Given the description of an element on the screen output the (x, y) to click on. 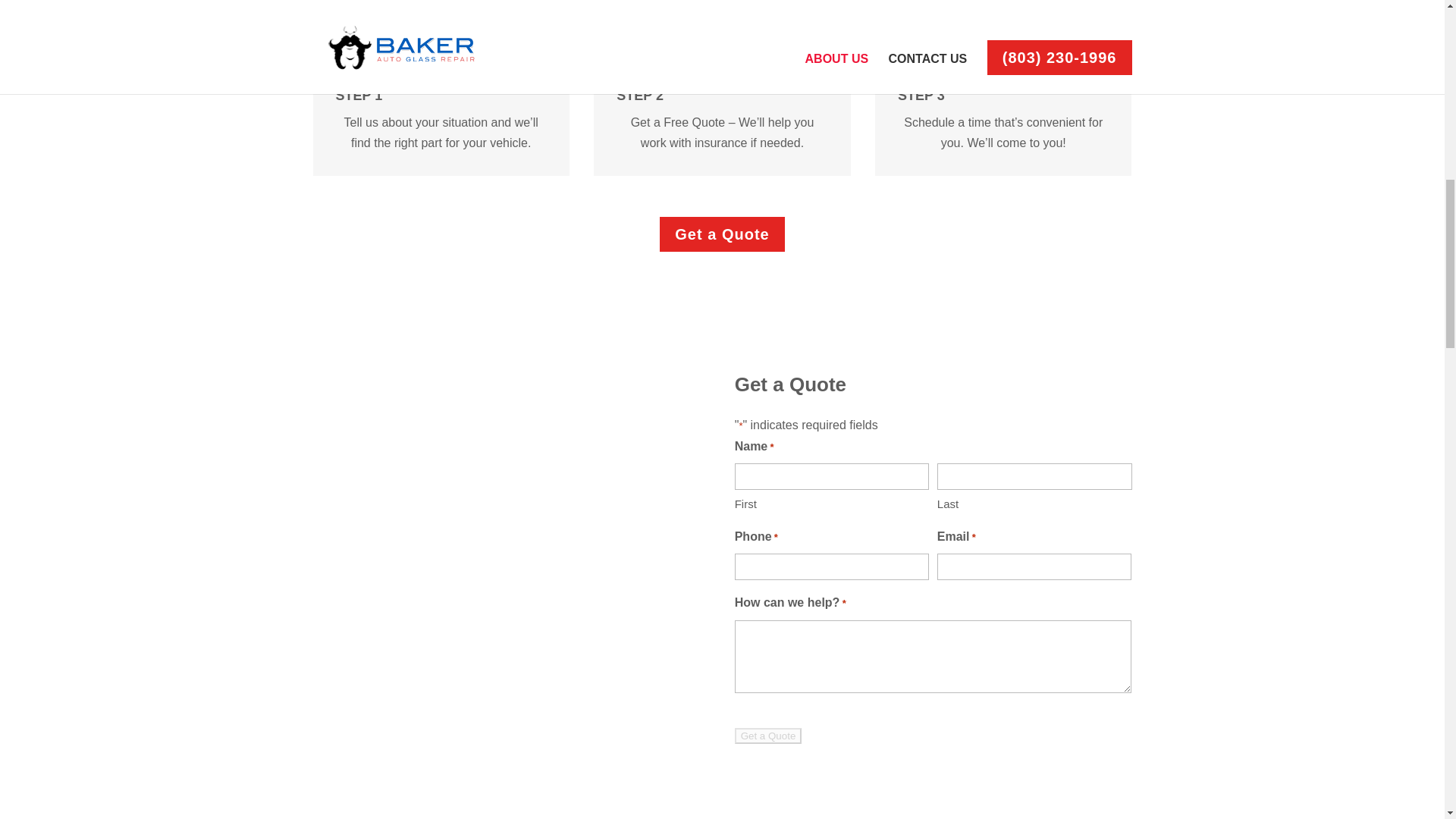
Get a Quote (768, 735)
Get a Quote (721, 234)
Get a Quote (768, 735)
